Given the description of an element on the screen output the (x, y) to click on. 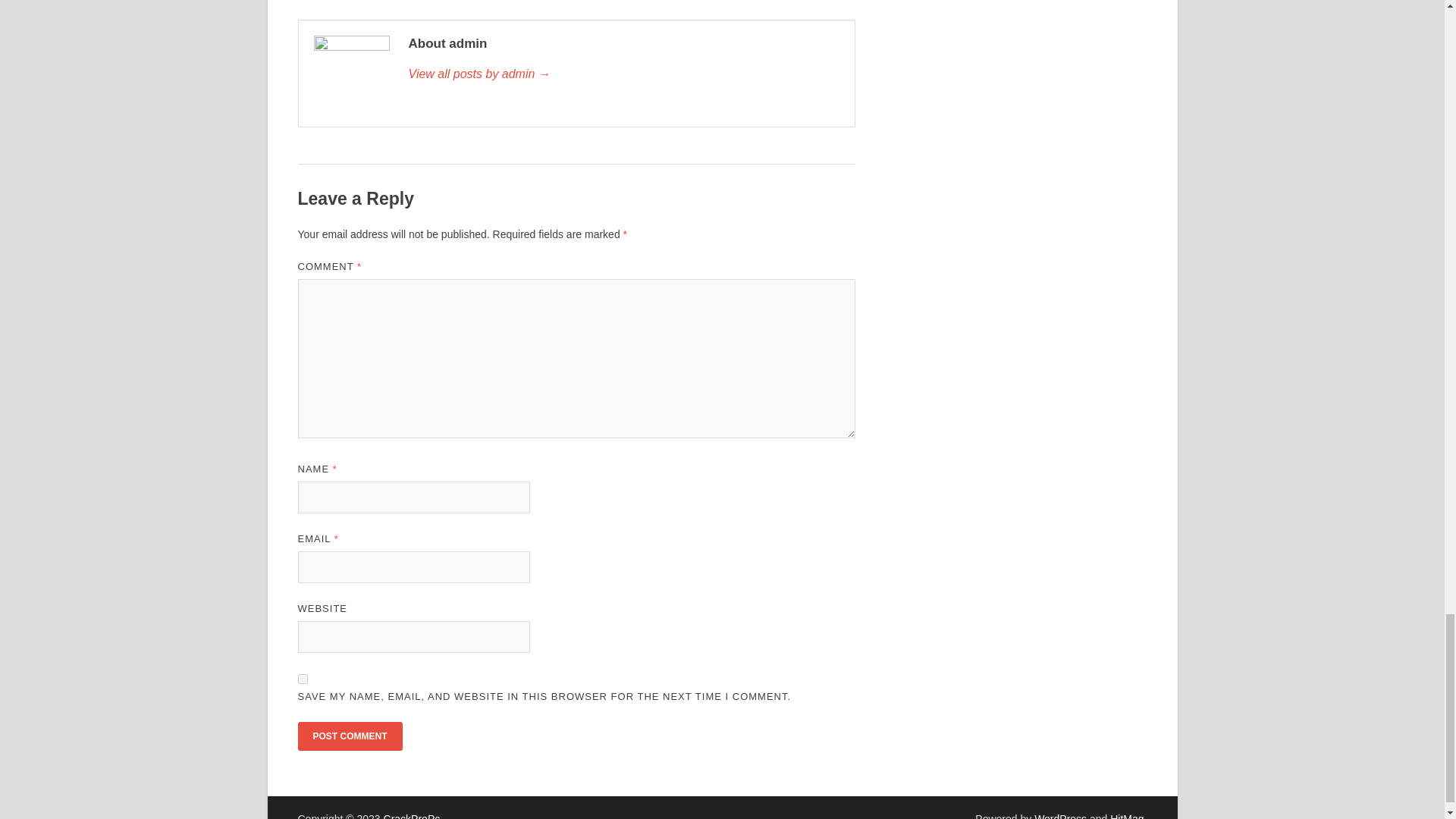
yes (302, 678)
Post Comment (349, 736)
admin (622, 74)
